Given the description of an element on the screen output the (x, y) to click on. 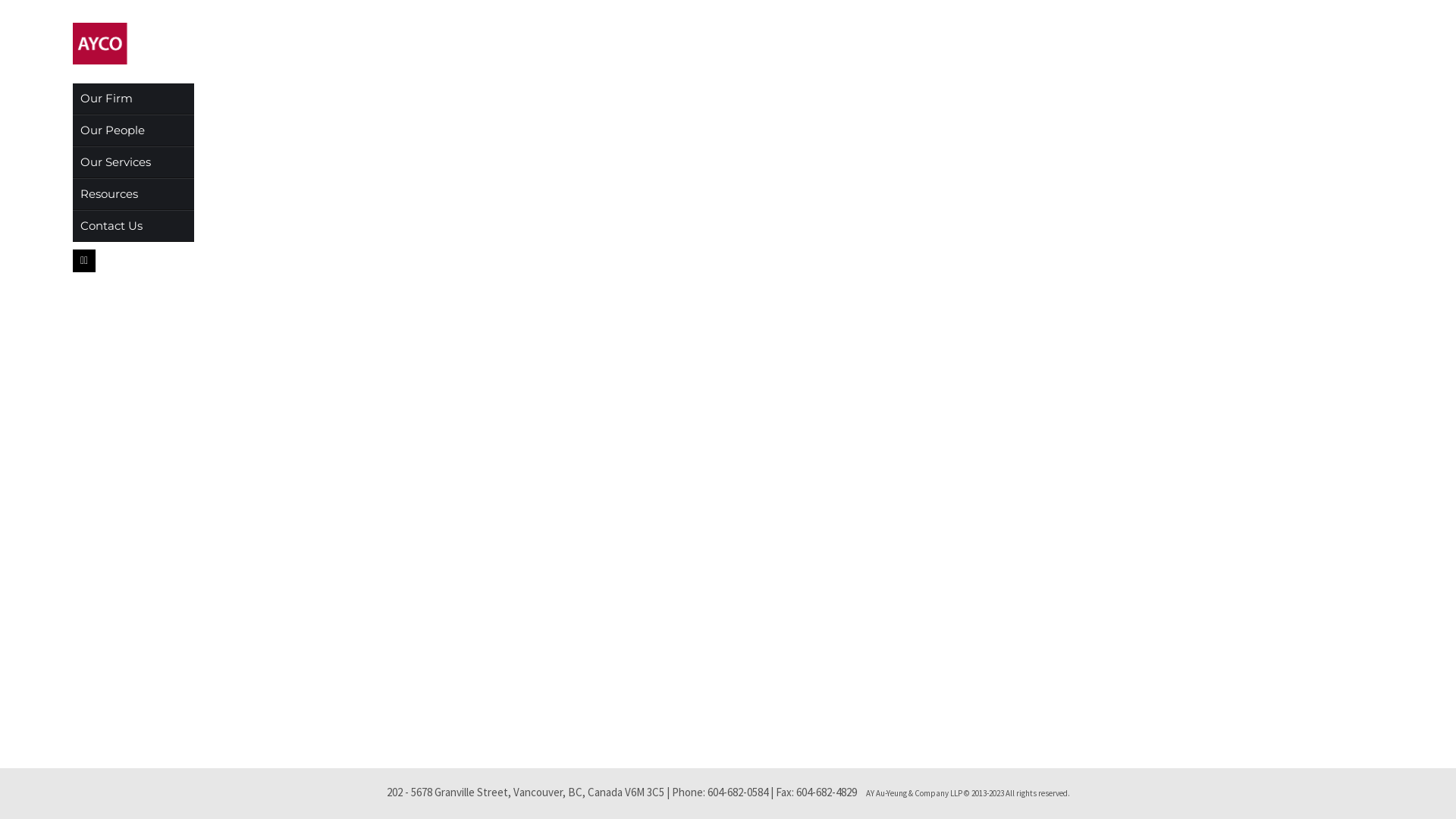
Our Firm Element type: text (133, 98)
Resources Element type: text (133, 193)
Our People Element type: text (133, 130)
Our Services Element type: text (133, 162)
Contact Us Element type: text (133, 225)
